Given the description of an element on the screen output the (x, y) to click on. 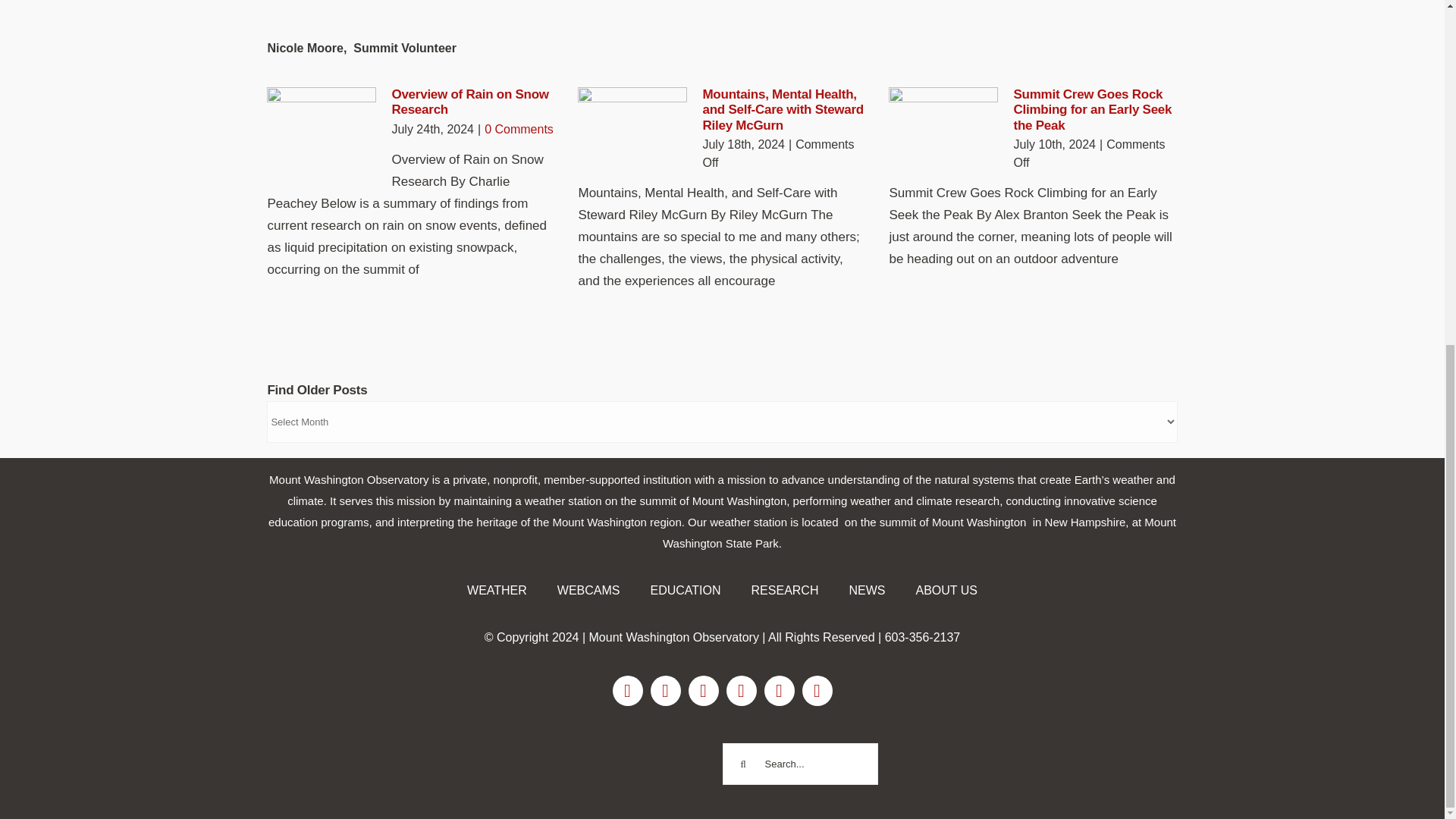
Facebook (627, 690)
Email (779, 690)
Phone (817, 690)
Instagram (665, 690)
Twitter (703, 690)
YouTube (741, 690)
